Given the description of an element on the screen output the (x, y) to click on. 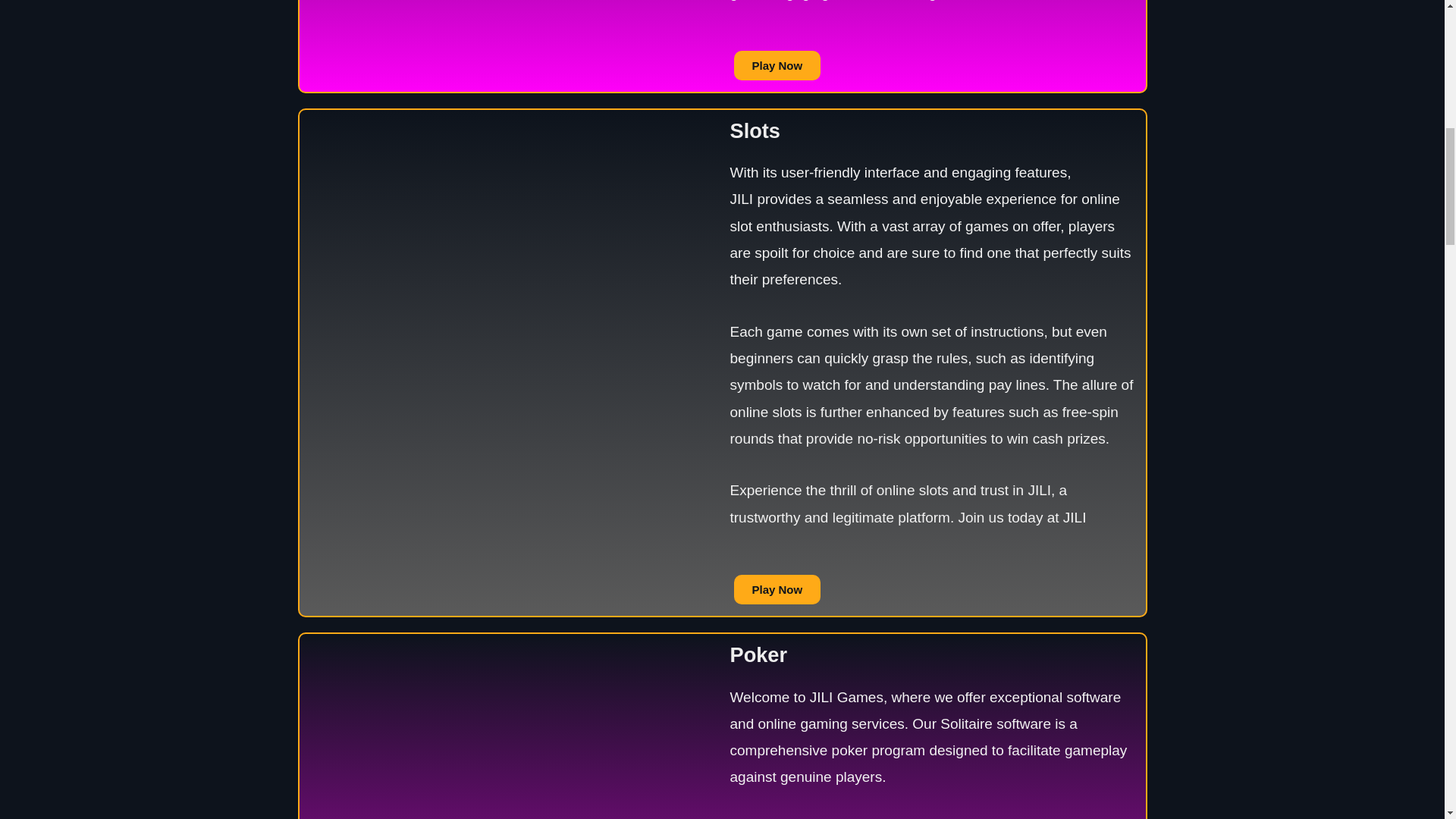
Slots (753, 130)
Play Now (777, 589)
Play Now (777, 65)
